Given the description of an element on the screen output the (x, y) to click on. 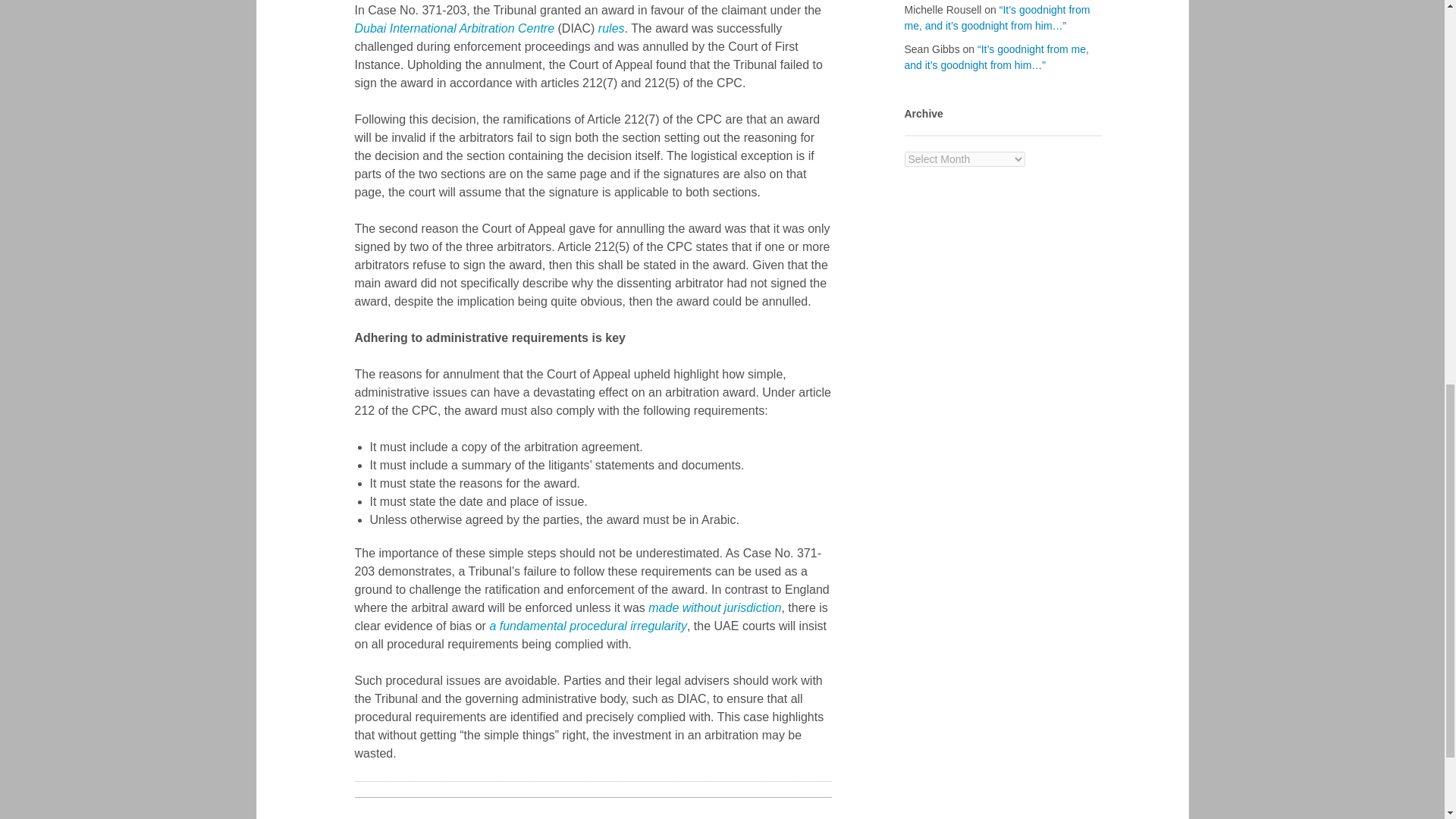
DIAC Arbitration Rules 2007 (611, 28)
rules (611, 28)
Dubai International Arbitration Centre (454, 28)
Dubai International Arbitration Centre (454, 28)
made without jurisdiction (713, 607)
a fundamental procedural irregularity (588, 625)
